Given the description of an element on the screen output the (x, y) to click on. 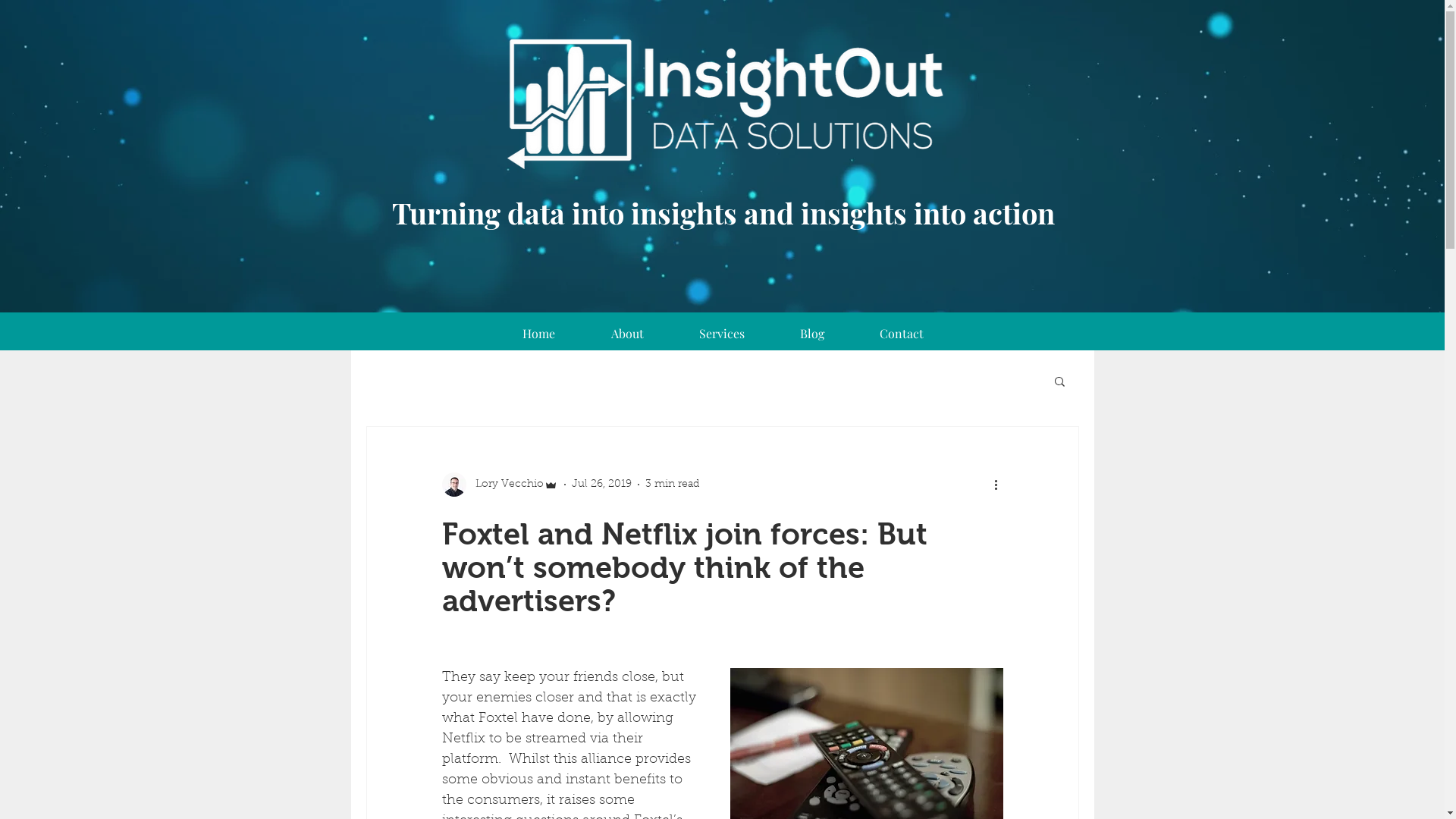
Blog Element type: text (811, 332)
Contact Element type: text (901, 332)
Turning data into insights and insights into action Element type: text (722, 212)
Services Element type: text (721, 332)
About Element type: text (626, 332)
Home Element type: text (538, 332)
Lory Vecchio Element type: text (499, 484)
